Given the description of an element on the screen output the (x, y) to click on. 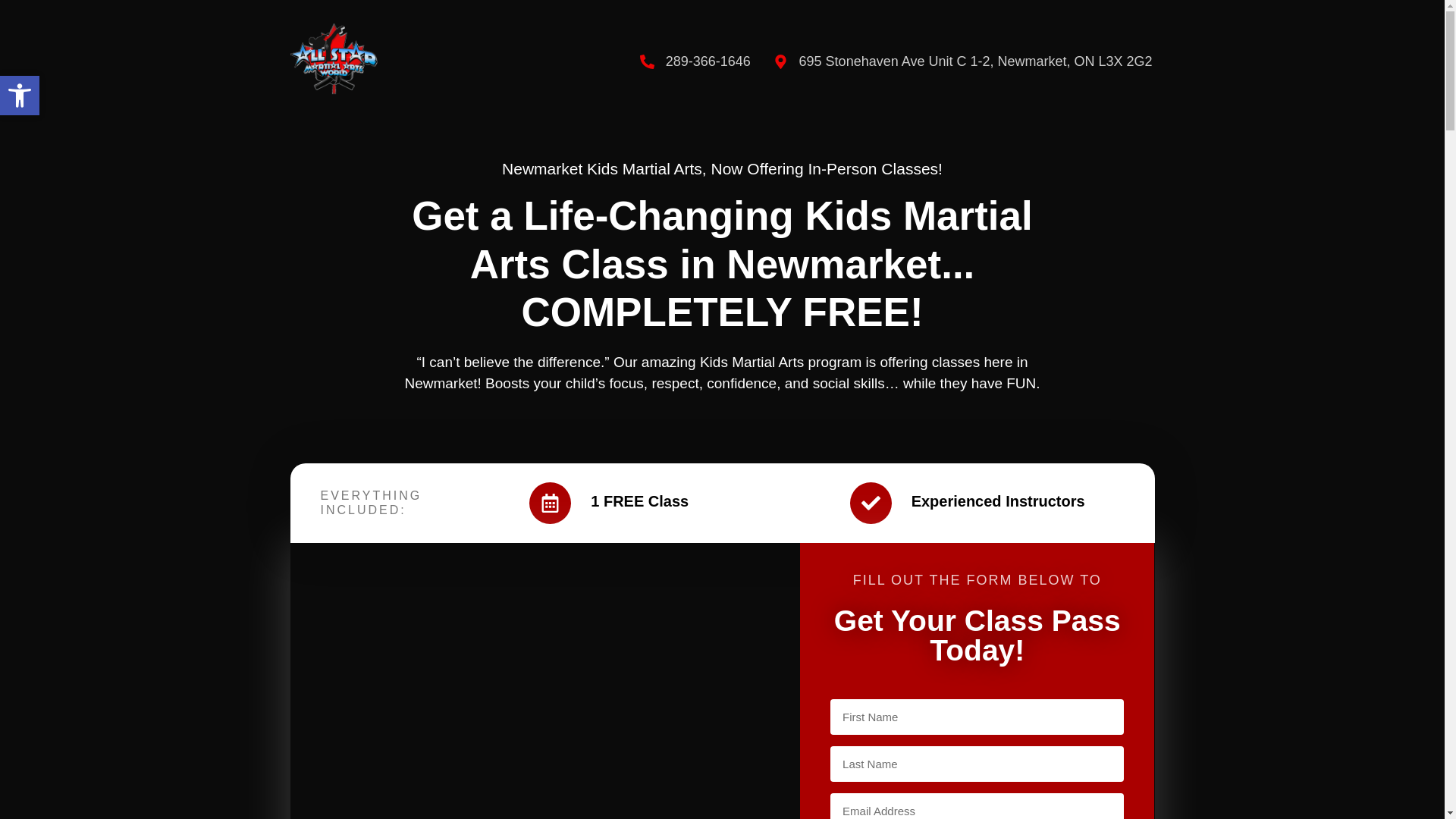
289-366-1646 Element type: text (695, 61)
695 Stonehaven Ave Unit C 1-2, Newmarket, ON L3X 2G2 Element type: text (962, 61)
Open toolbar
Accessibility Tools Element type: text (19, 95)
